Given the description of an element on the screen output the (x, y) to click on. 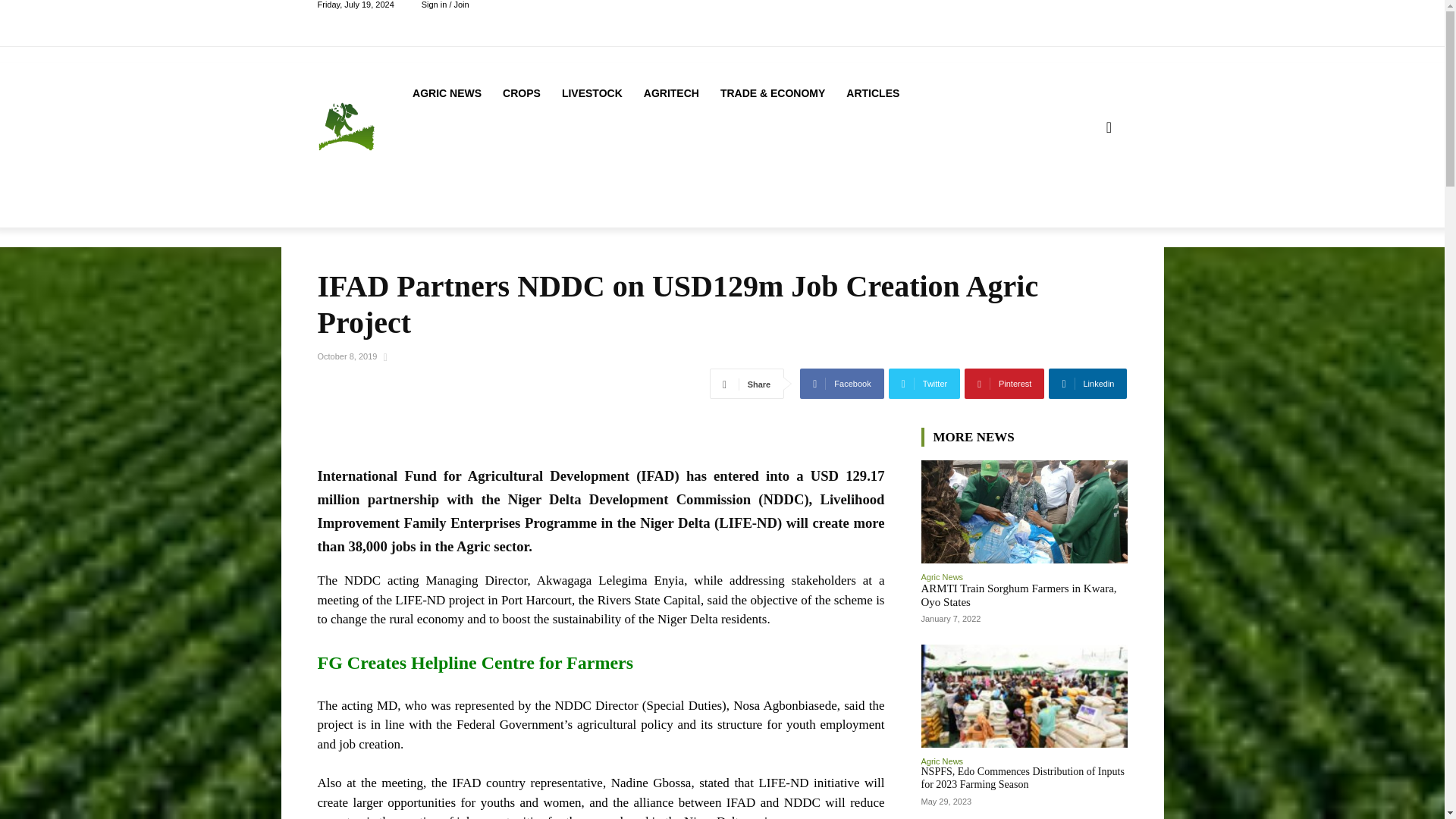
AGRIC NEWS (446, 93)
Facebook (1049, 23)
Instagram (1066, 23)
Twitter (1084, 23)
CROPS (521, 93)
Vimeo (1101, 23)
Youtube (1117, 23)
